Given the description of an element on the screen output the (x, y) to click on. 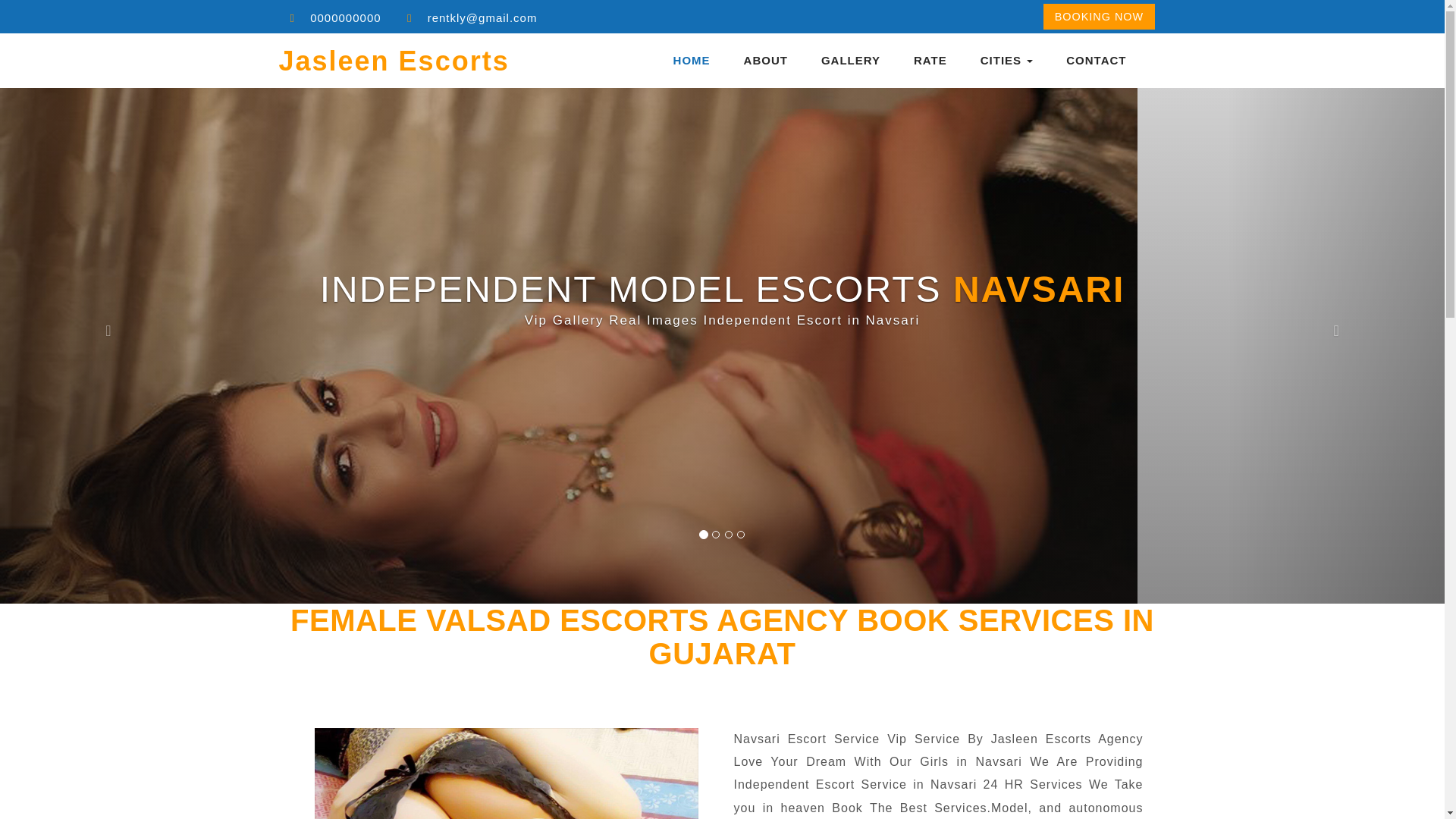
BOOKING NOW (1098, 16)
ABOUT (765, 60)
GALLERY (850, 60)
CITIES (1007, 60)
HOME (692, 60)
CONTACT (1095, 60)
RATE (930, 60)
